Given the description of an element on the screen output the (x, y) to click on. 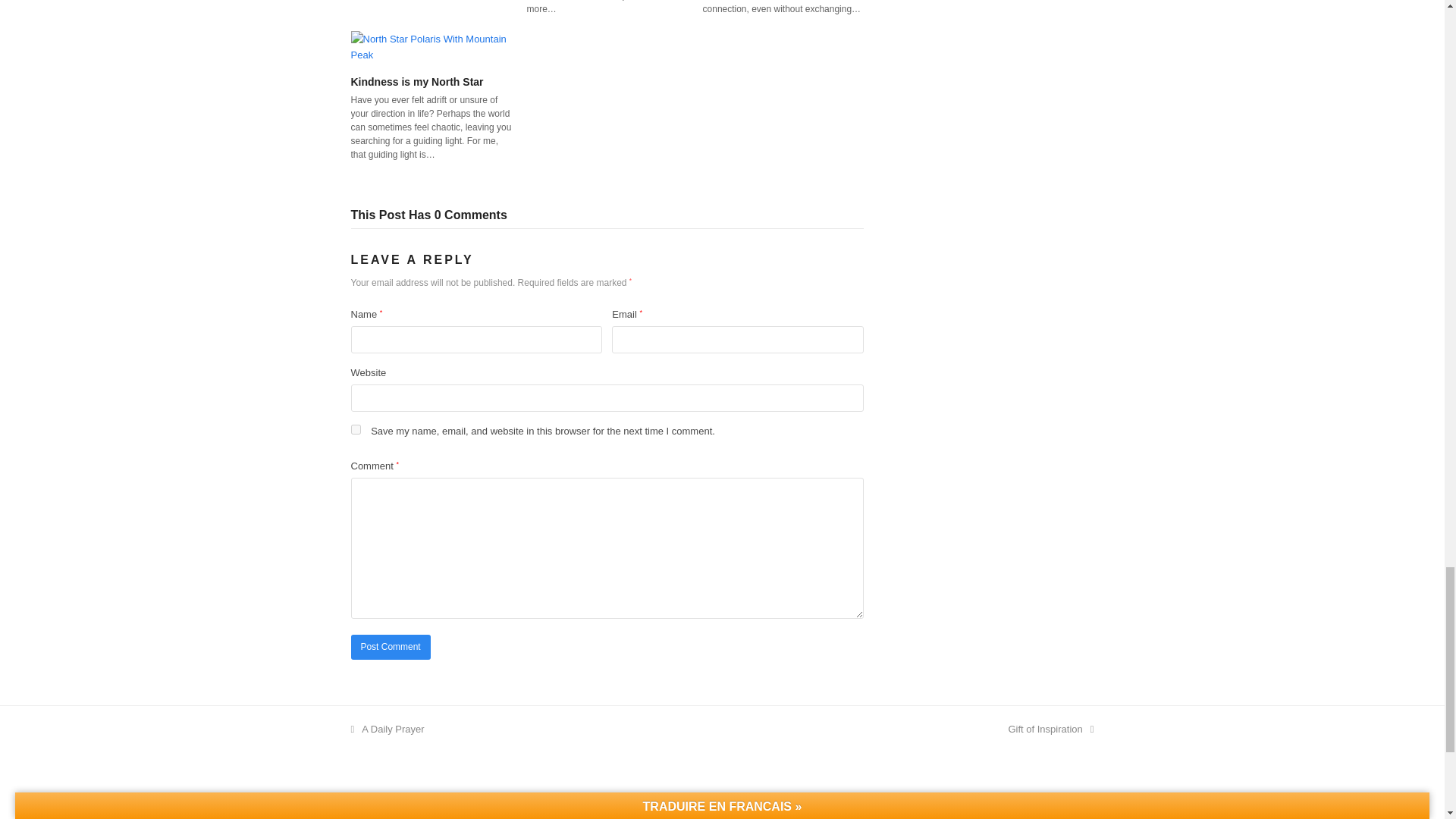
Post Comment (389, 647)
Kindness is my North Star (416, 81)
Post Comment (389, 647)
yes (354, 429)
Kindness is my North Star (430, 46)
